Given the description of an element on the screen output the (x, y) to click on. 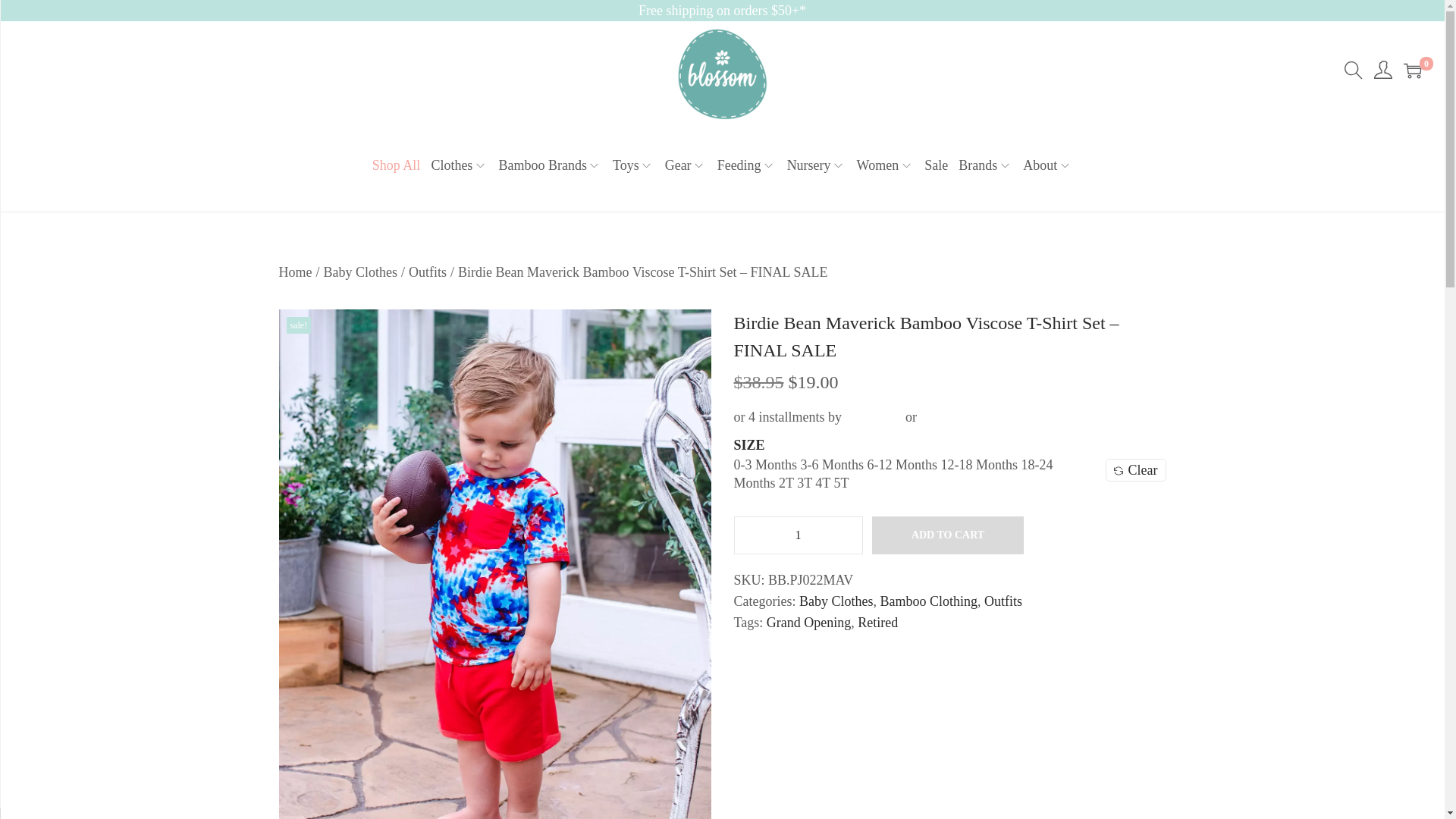
1 (797, 535)
0 (1412, 70)
